Given the description of an element on the screen output the (x, y) to click on. 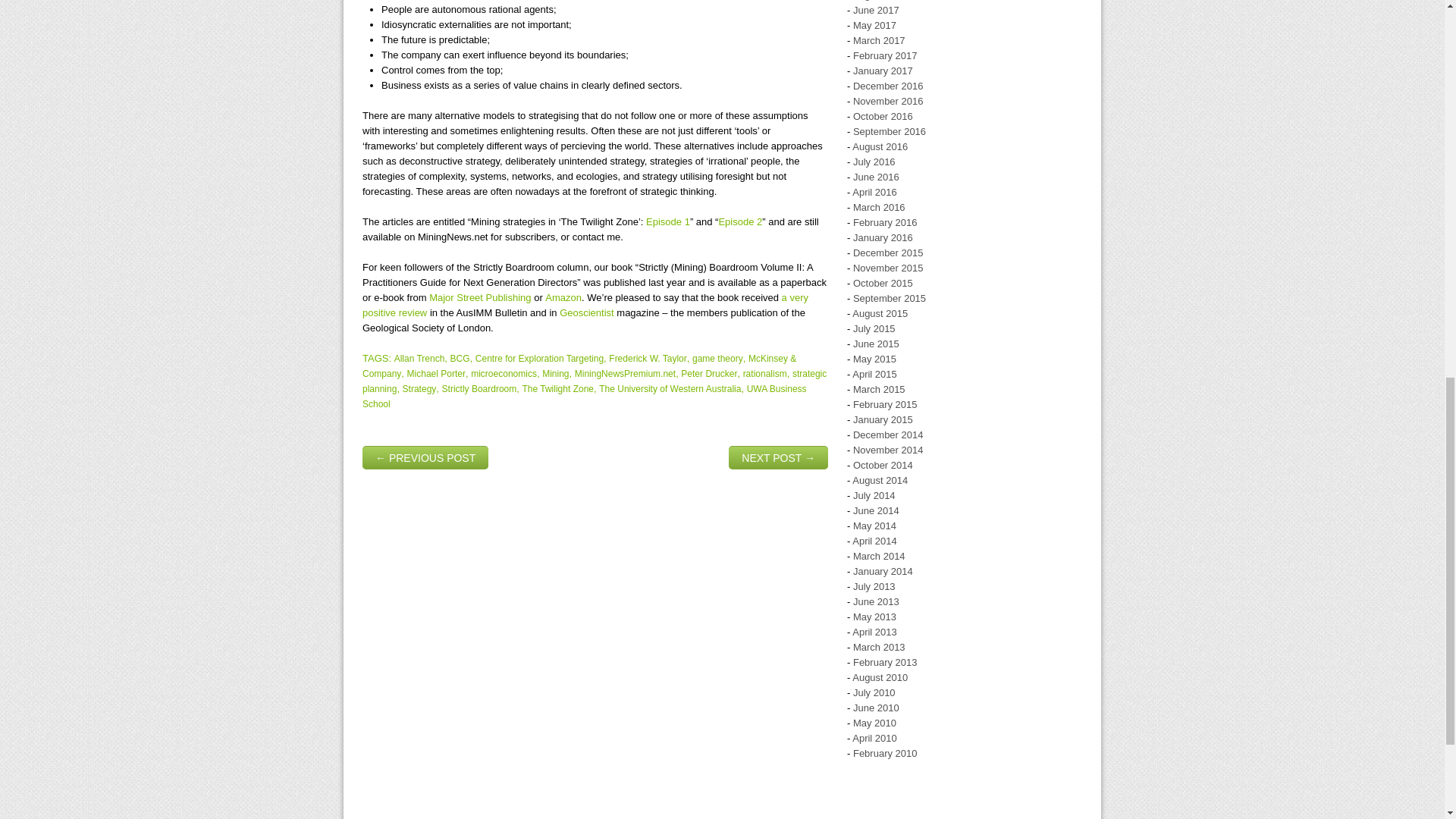
Michael Porter (436, 373)
The Twilight Zone (557, 388)
BCG (459, 357)
a very positive review (585, 304)
Centre for Exploration Targeting (540, 357)
Major Street Publishing (480, 297)
MiningNewsPremium.net (625, 373)
Episode 2 (739, 221)
UWA Business School (584, 396)
strategic planning (594, 380)
Episode 1 (668, 221)
game theory (717, 357)
Frederick W. Taylor (646, 357)
Peter Drucker (708, 373)
Amazon (562, 297)
